Given the description of an element on the screen output the (x, y) to click on. 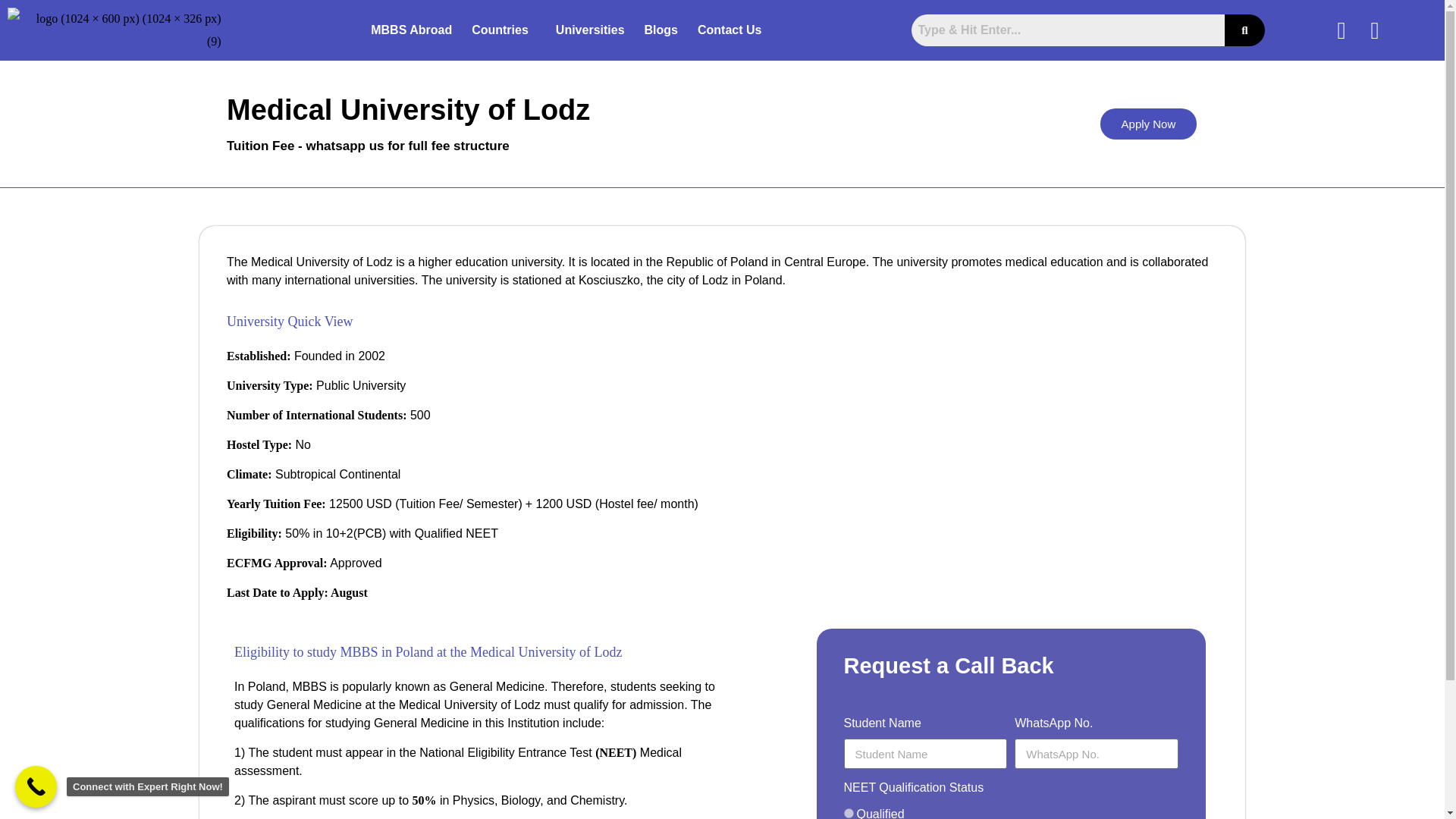
Apply Now (1148, 123)
Universities (590, 29)
Blogs (660, 29)
Contact Us (729, 29)
Countries (503, 29)
Qualified (848, 813)
Search (1067, 29)
Tuition Fee - whatsapp us for full fee structure (368, 145)
MBBS Abroad (411, 29)
